Given the description of an element on the screen output the (x, y) to click on. 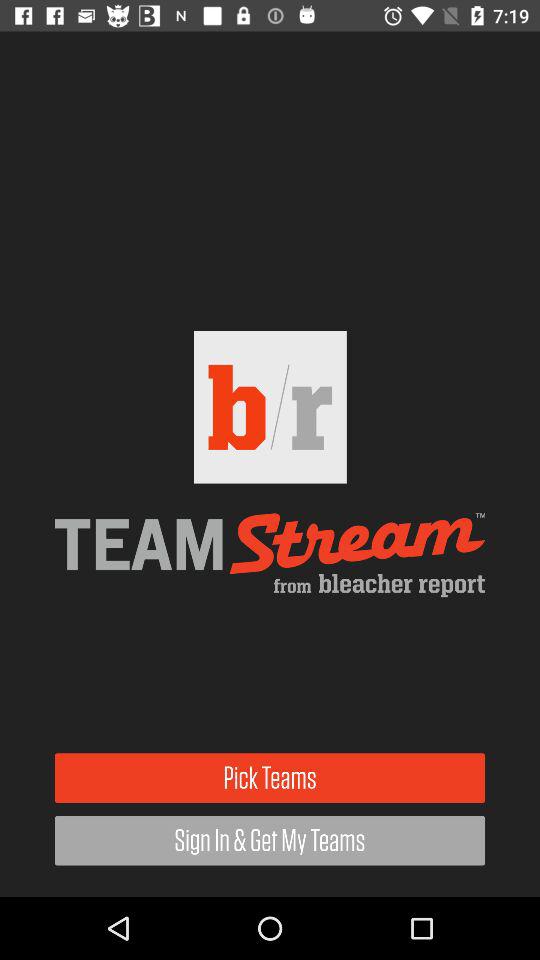
turn off item above sign in get icon (269, 777)
